Given the description of an element on the screen output the (x, y) to click on. 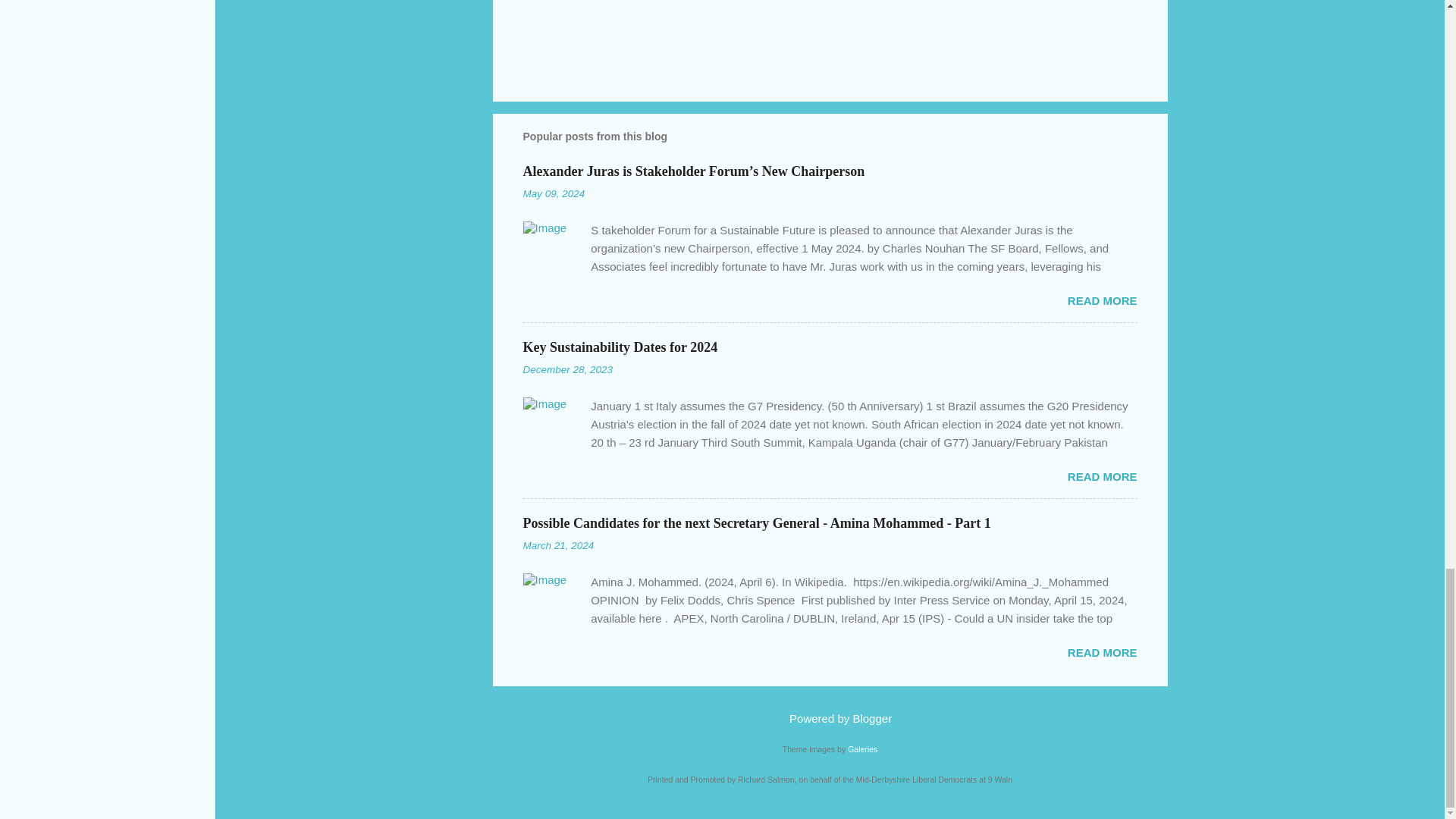
READ MORE (1102, 300)
READ MORE (1102, 476)
March 21, 2024 (558, 545)
December 28, 2023 (567, 369)
Galeries (862, 748)
permanent link (553, 193)
Powered by Blogger (829, 717)
May 09, 2024 (553, 193)
READ MORE (1102, 652)
Key Sustainability Dates for 2024 (619, 346)
